Given the description of an element on the screen output the (x, y) to click on. 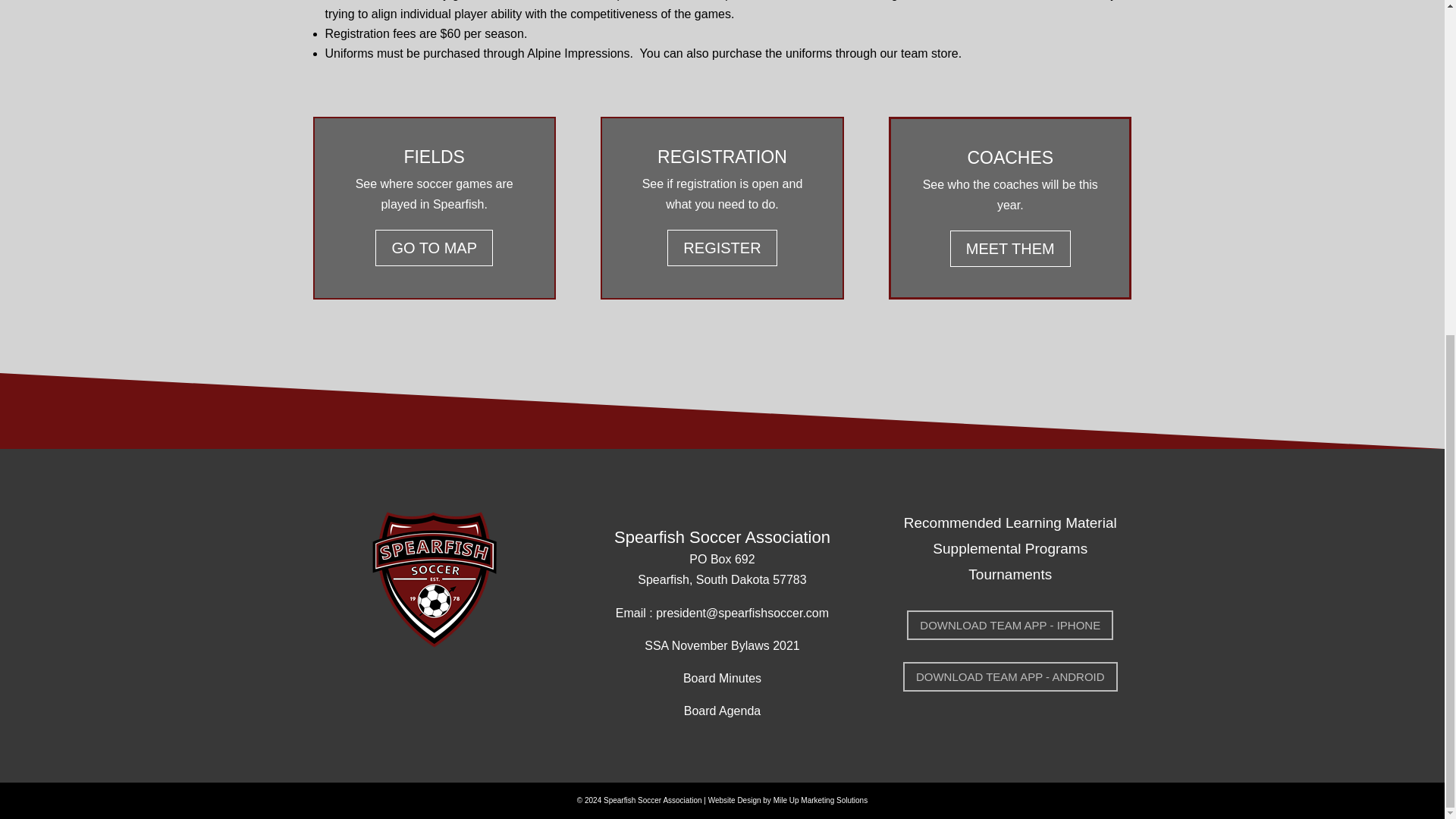
GO TO MAP (434, 248)
DOWNLOAD TEAM APP - IPHONE (1010, 624)
DOWNLOAD TEAM APP - ANDROID (1010, 676)
Board Minutes (721, 677)
Supplemental Programs (1010, 548)
Mile Up Marketing Solutions (820, 800)
REGISTER (721, 248)
SSA November Bylaws 2021 (722, 645)
logo (434, 582)
Tournaments (1009, 574)
MEET THEM (1010, 248)
Recommended Learning Material (1010, 522)
